Given the description of an element on the screen output the (x, y) to click on. 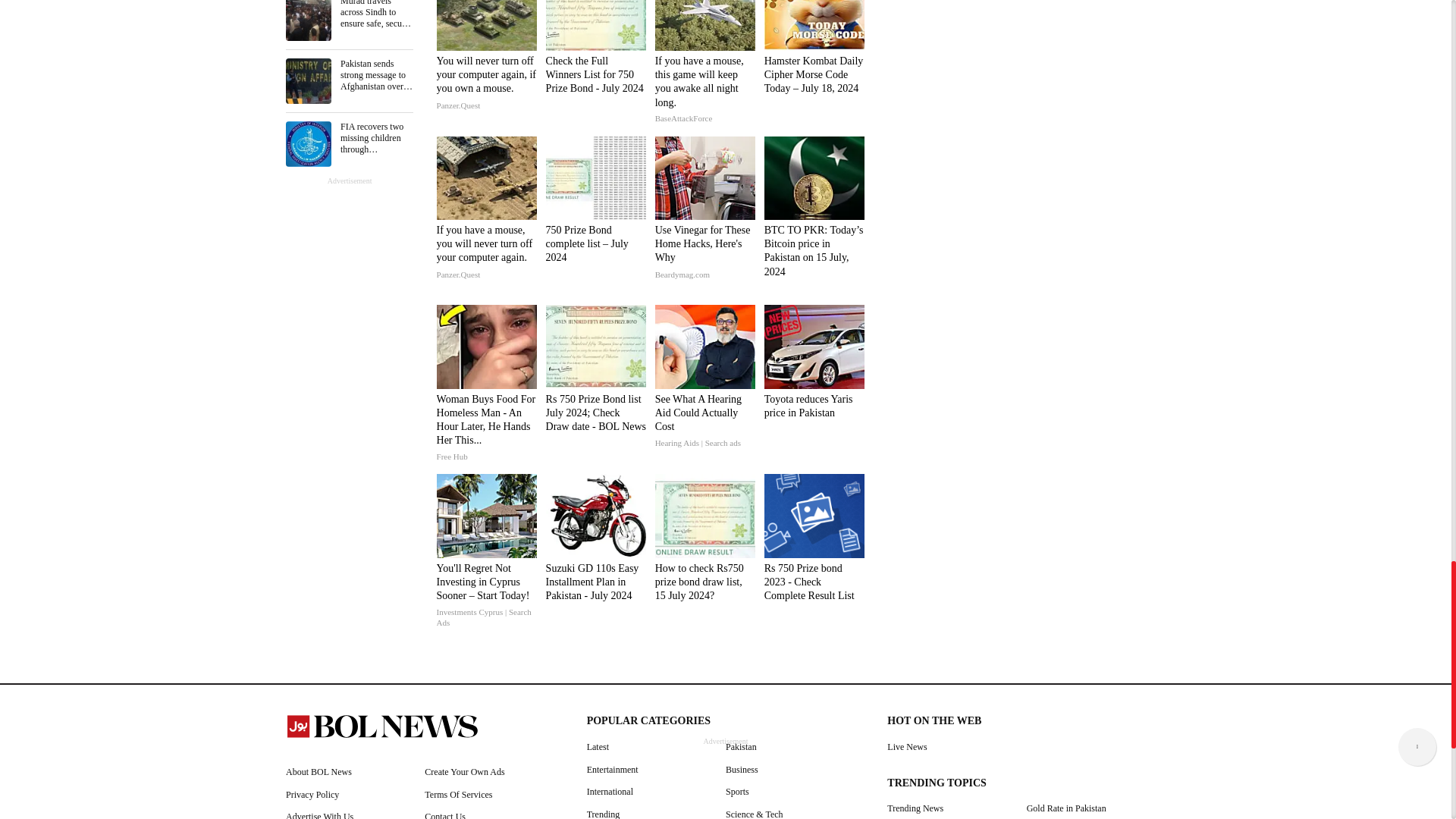
Check the Full Winners List for 750 Prize Bond - July 2024 (596, 90)
